Given the description of an element on the screen output the (x, y) to click on. 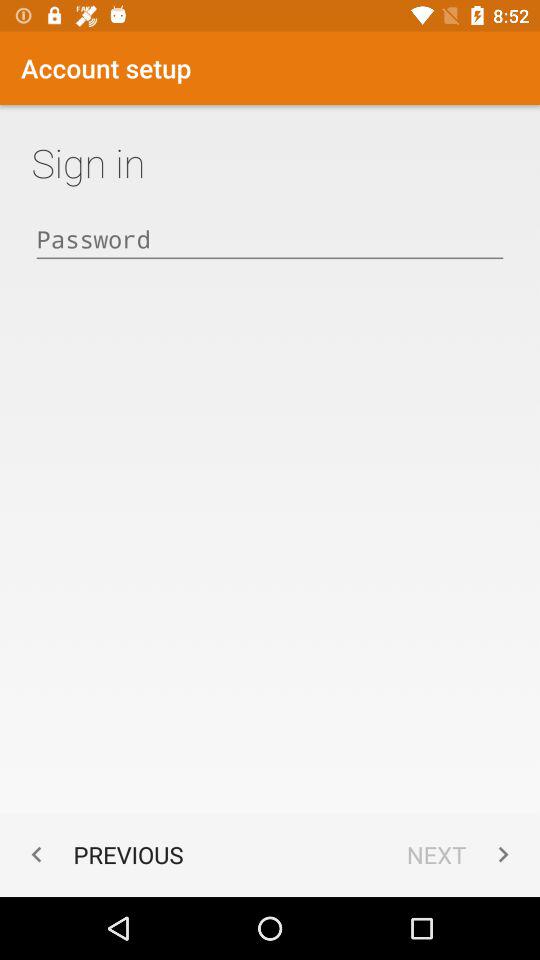
select the item at the bottom right corner (462, 854)
